Given the description of an element on the screen output the (x, y) to click on. 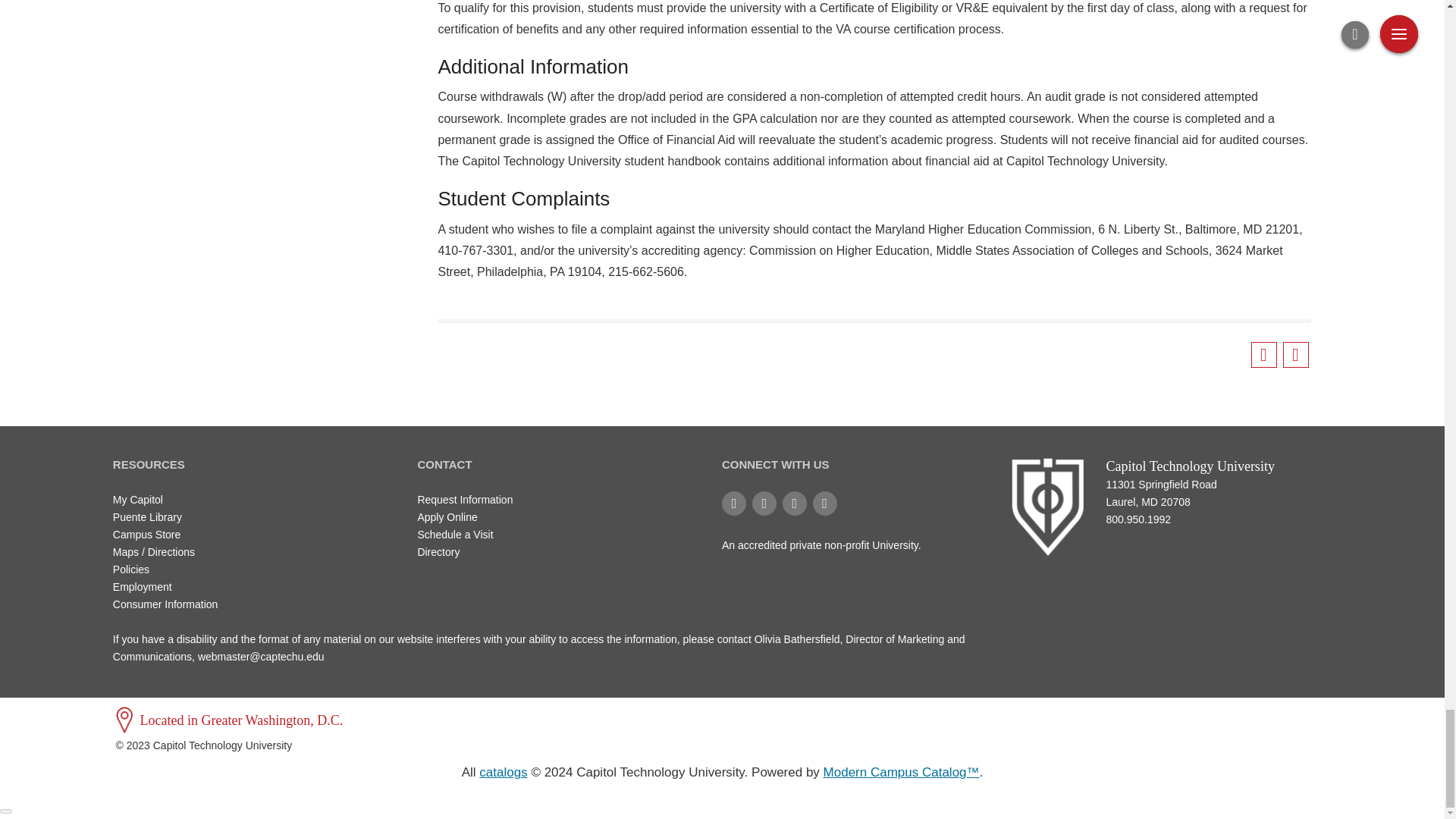
Toll-Free Phone (1218, 527)
